Given the description of an element on the screen output the (x, y) to click on. 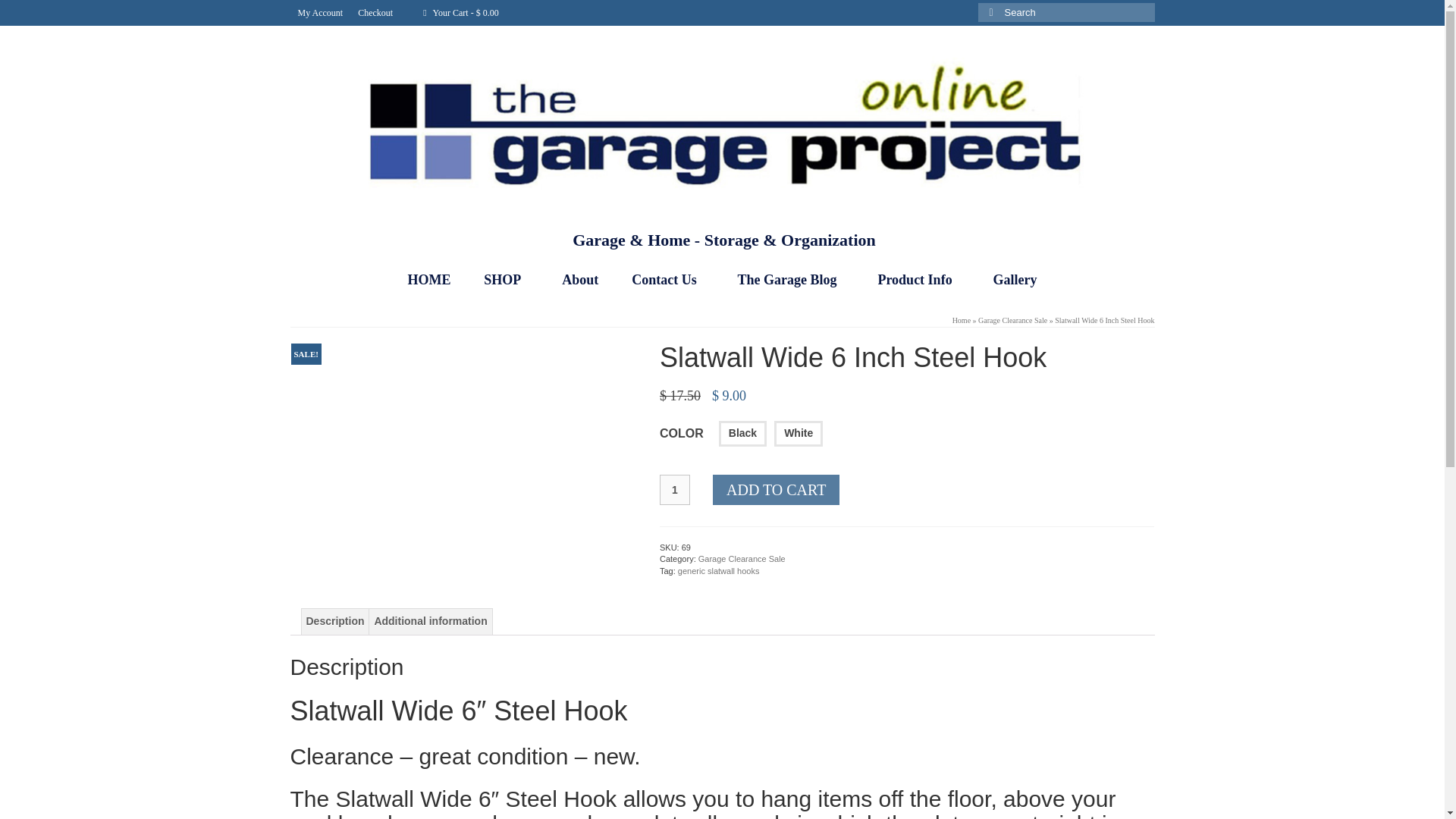
About (579, 279)
HOME (428, 279)
My Account (319, 12)
The Garage Blog (791, 279)
1 (674, 490)
Checkout (375, 12)
Contact Us (667, 279)
